Given the description of an element on the screen output the (x, y) to click on. 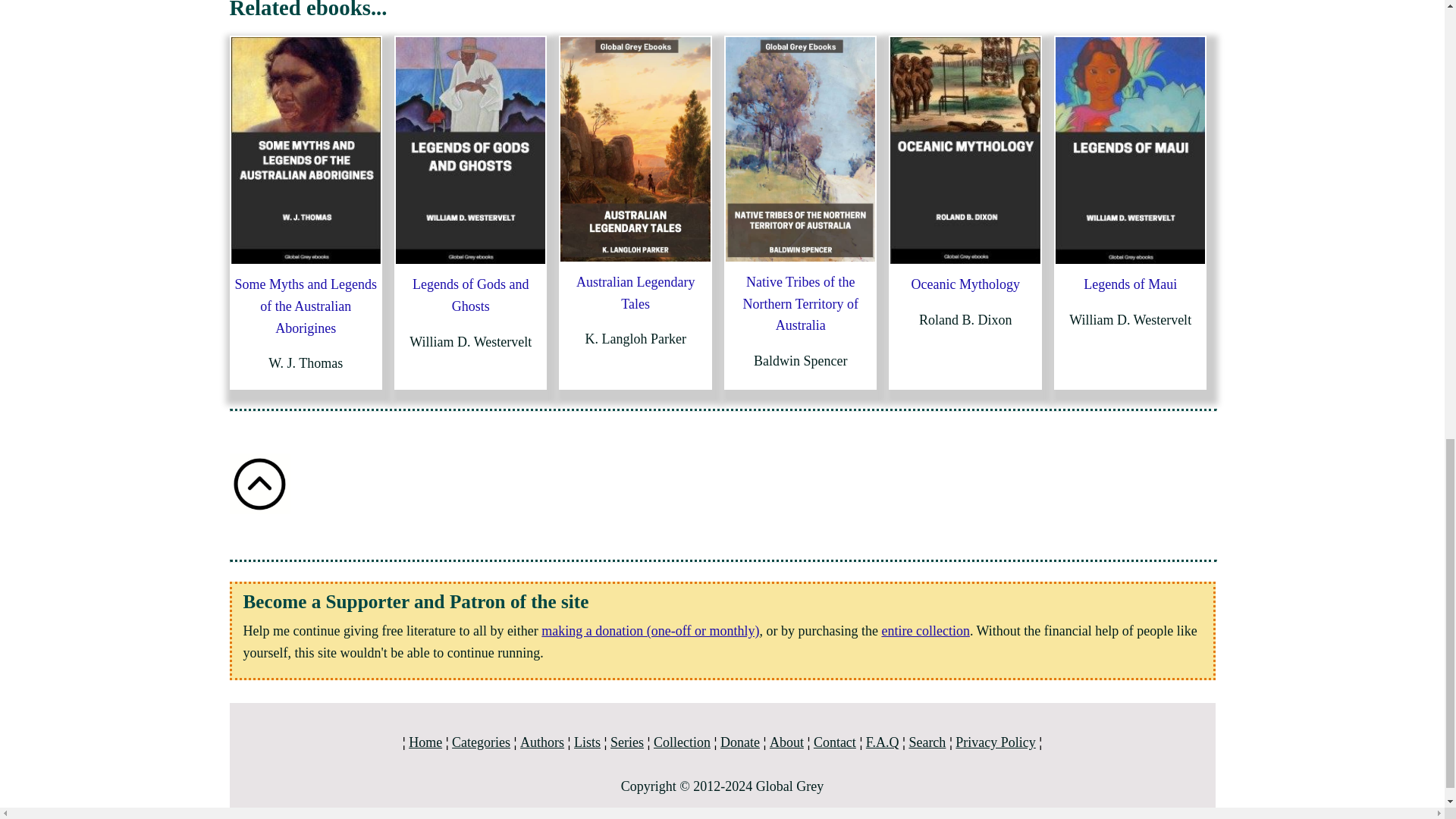
Oceanic Mythology (965, 283)
Legends of Gods and Ghosts (470, 294)
Native Tribes of the Northern Territory of Australia (800, 303)
Australian Legendary Tales (635, 293)
Some Myths and Legends of the Australian Aborigines (305, 305)
